Given the description of an element on the screen output the (x, y) to click on. 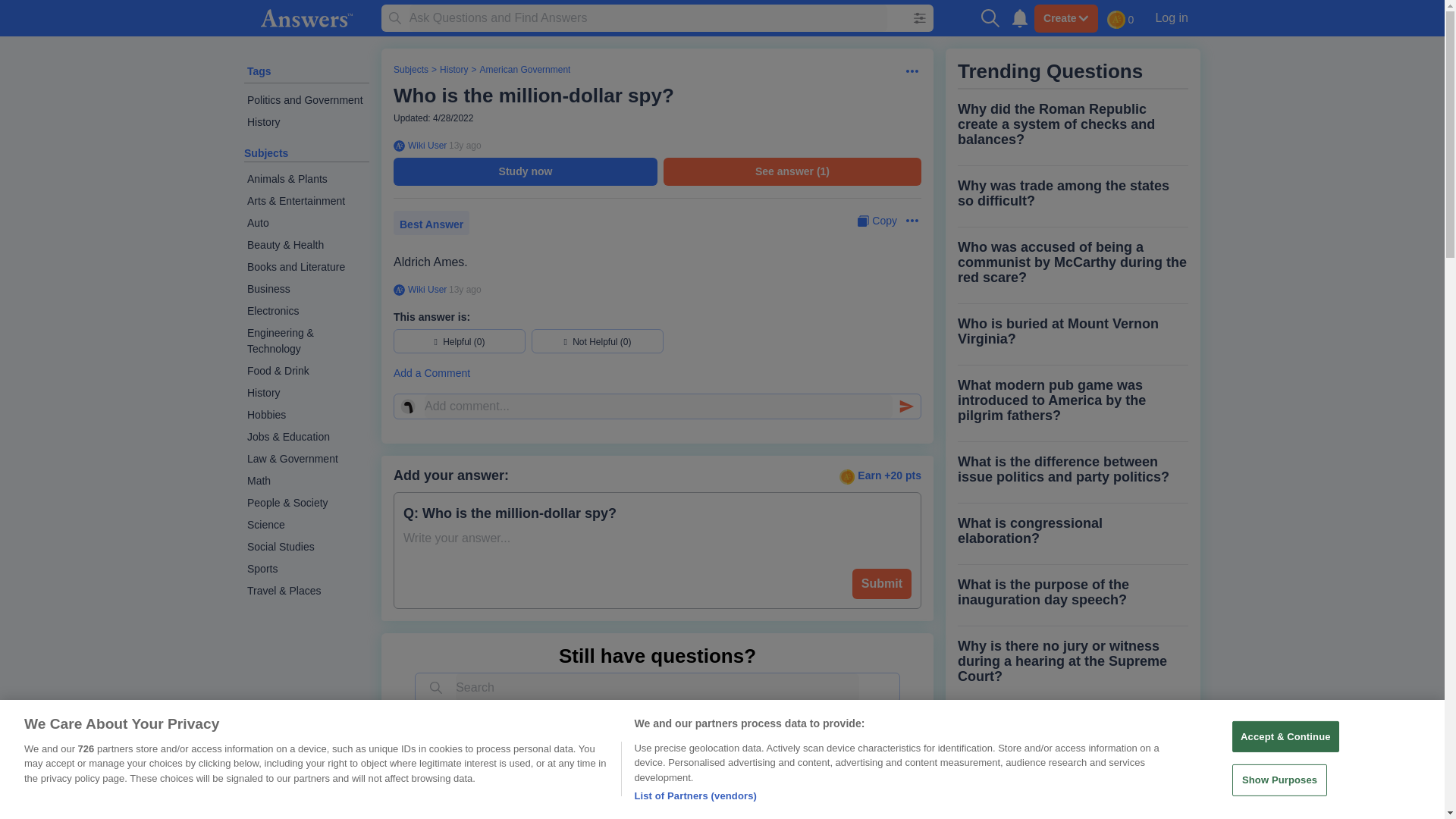
Auto (306, 223)
History (306, 122)
Sports (306, 568)
Subjects (266, 152)
Hobbies (306, 414)
Study now (525, 171)
American Government (524, 69)
Politics and Government (306, 100)
Create (1065, 18)
Wiki User (425, 289)
